Given the description of an element on the screen output the (x, y) to click on. 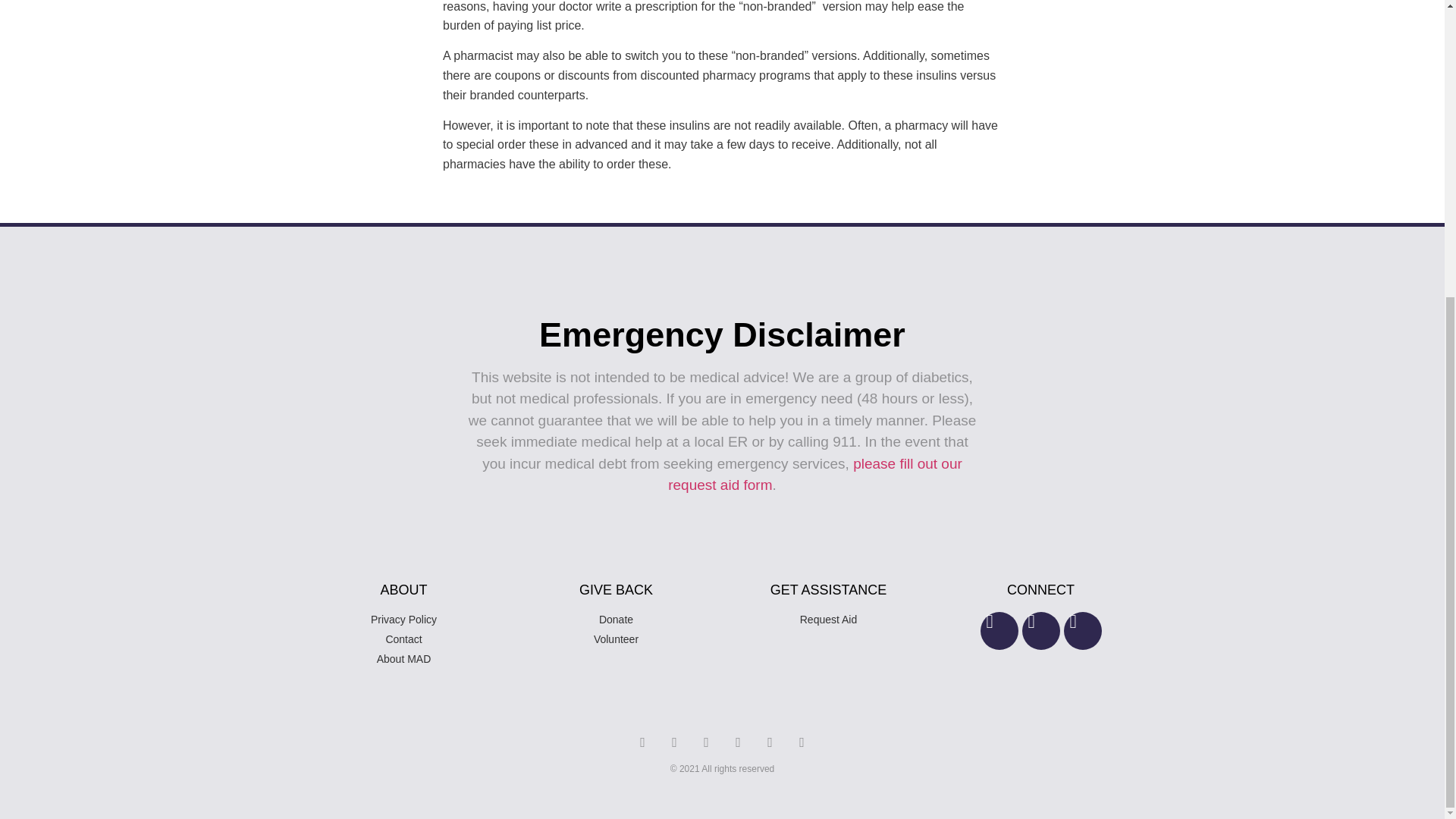
Contact (403, 639)
Privacy Policy (403, 619)
About MAD (403, 659)
Request Aid (828, 619)
please fill out our request aid form (815, 474)
Donate (615, 619)
Volunteer (615, 639)
